Given the description of an element on the screen output the (x, y) to click on. 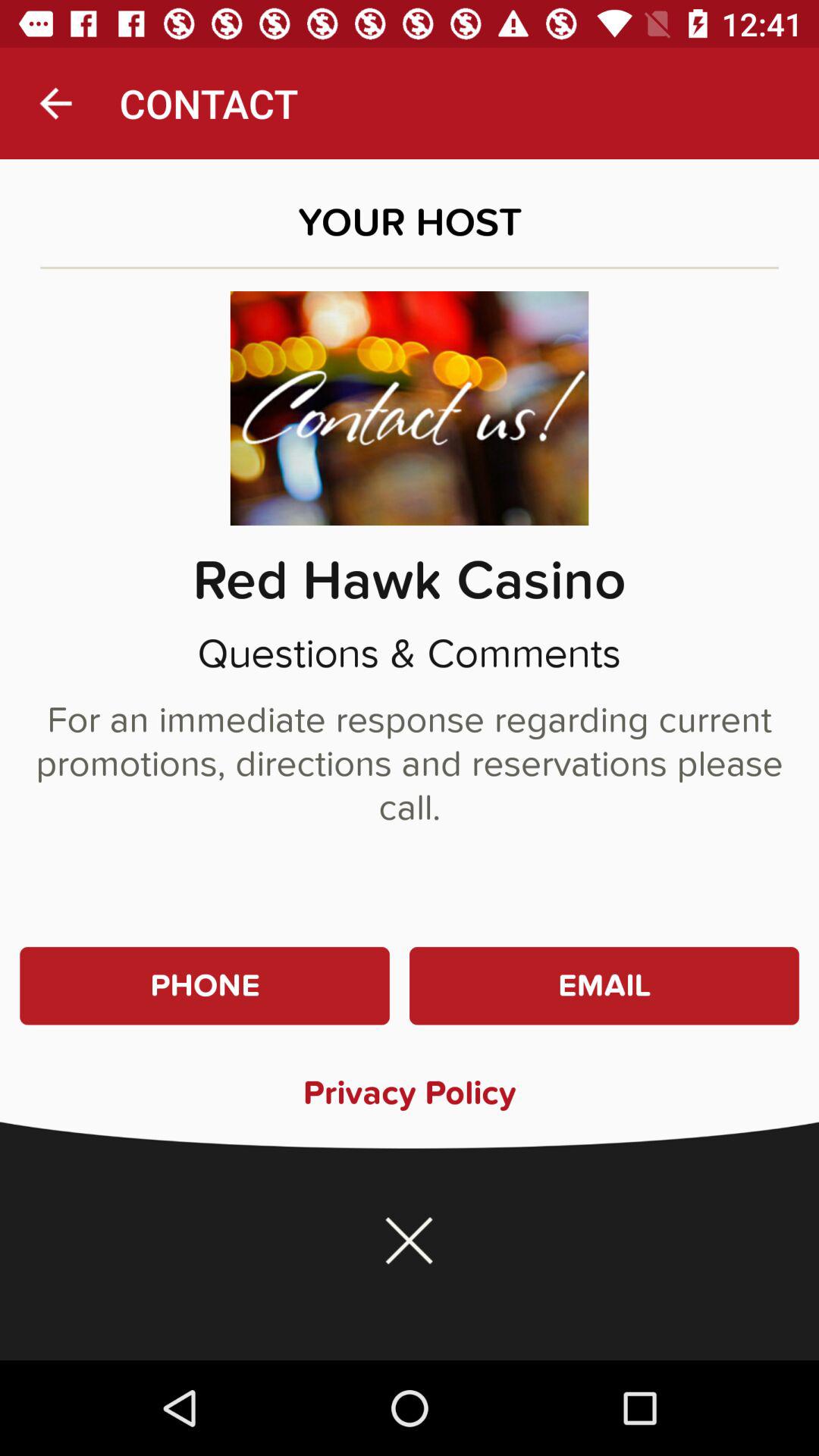
open icon next to the email (204, 985)
